Given the description of an element on the screen output the (x, y) to click on. 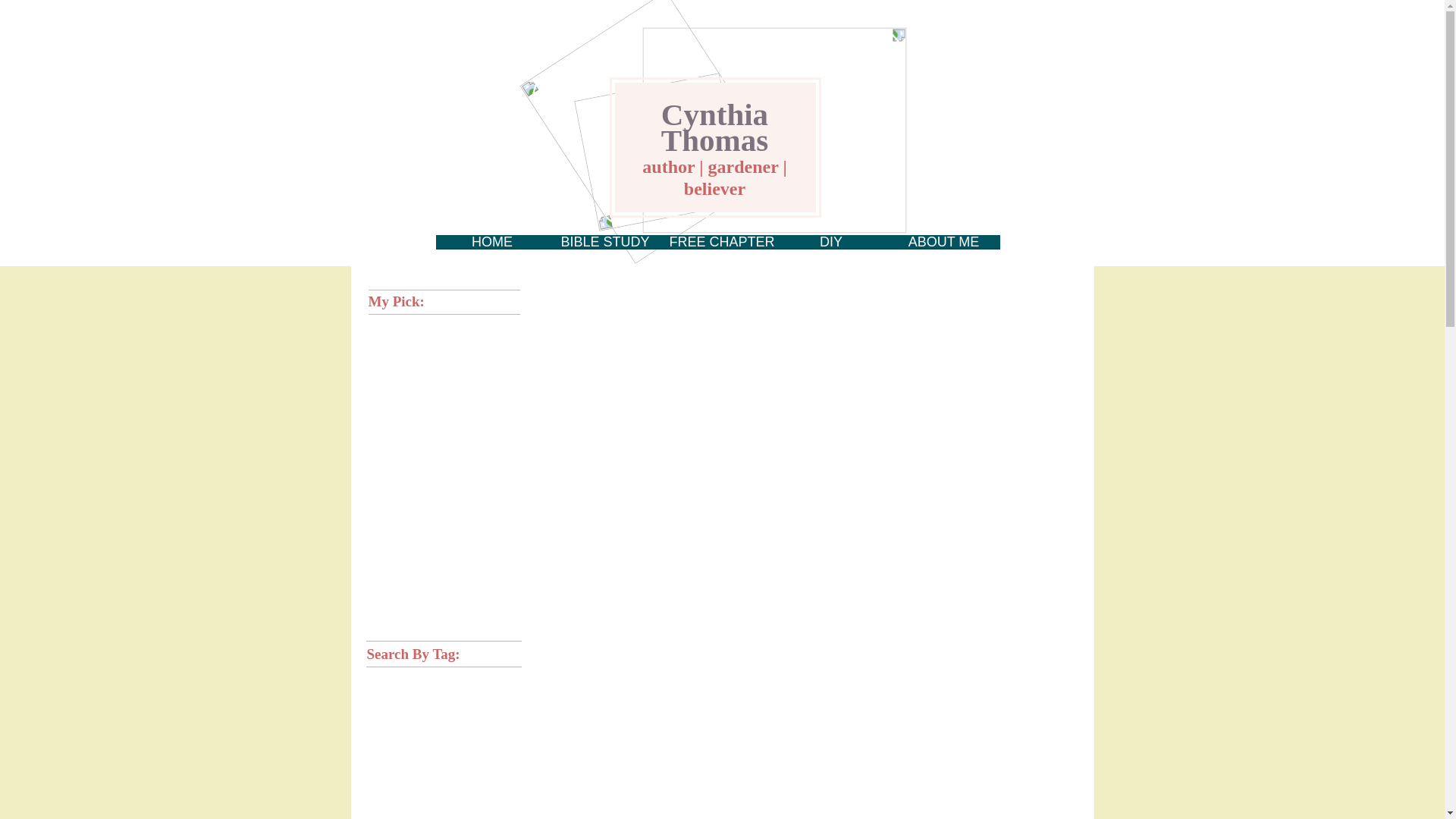
BIBLE STUDY (605, 246)
Cynthia Thomas (714, 155)
ABOUT ME (942, 246)
HOME (491, 246)
DIY (831, 246)
FREE CHAPTER (717, 246)
